Given the description of an element on the screen output the (x, y) to click on. 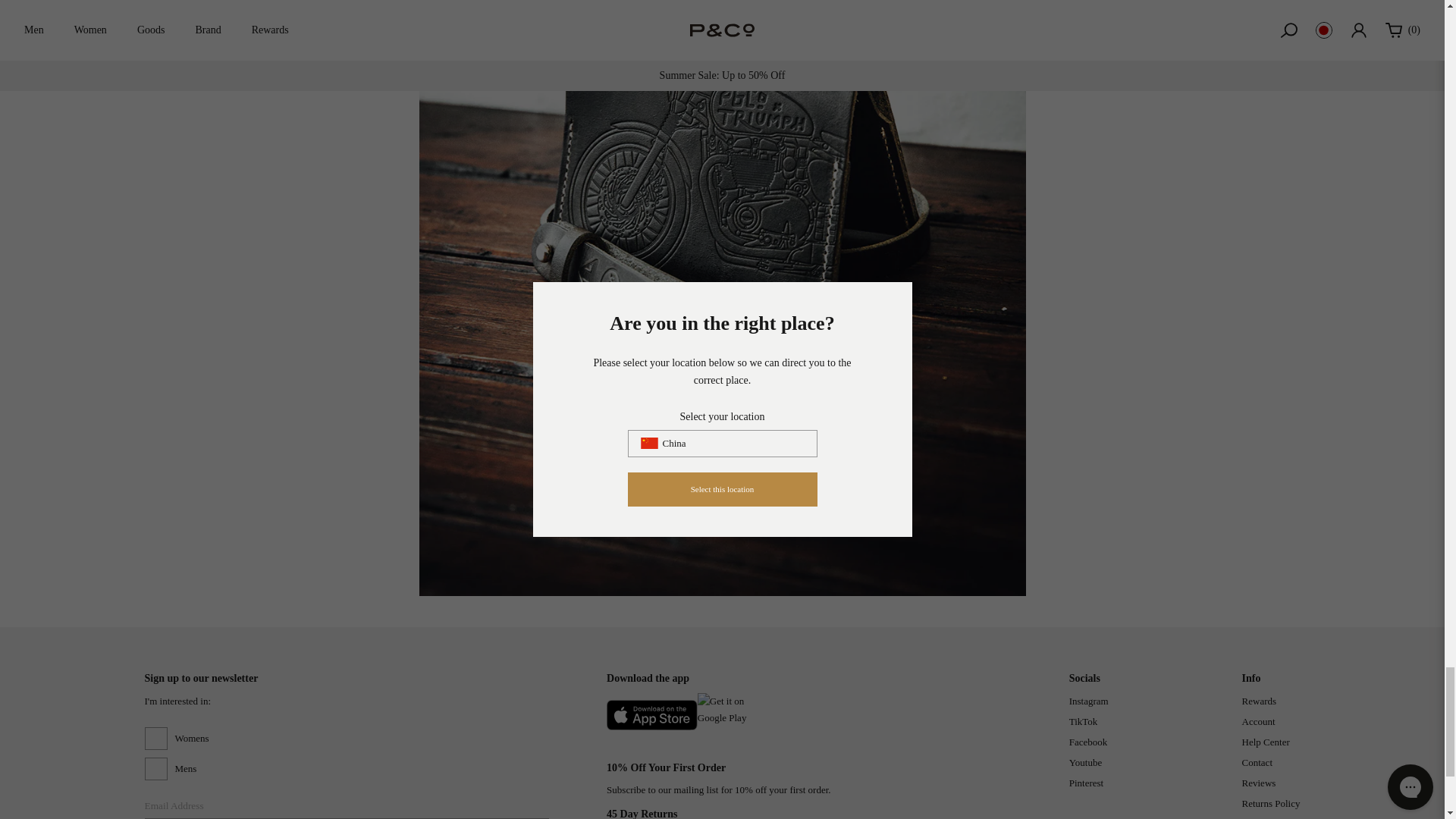
Reviews (1258, 782)
Rewards (1258, 700)
Contact (1256, 762)
